Given the description of an element on the screen output the (x, y) to click on. 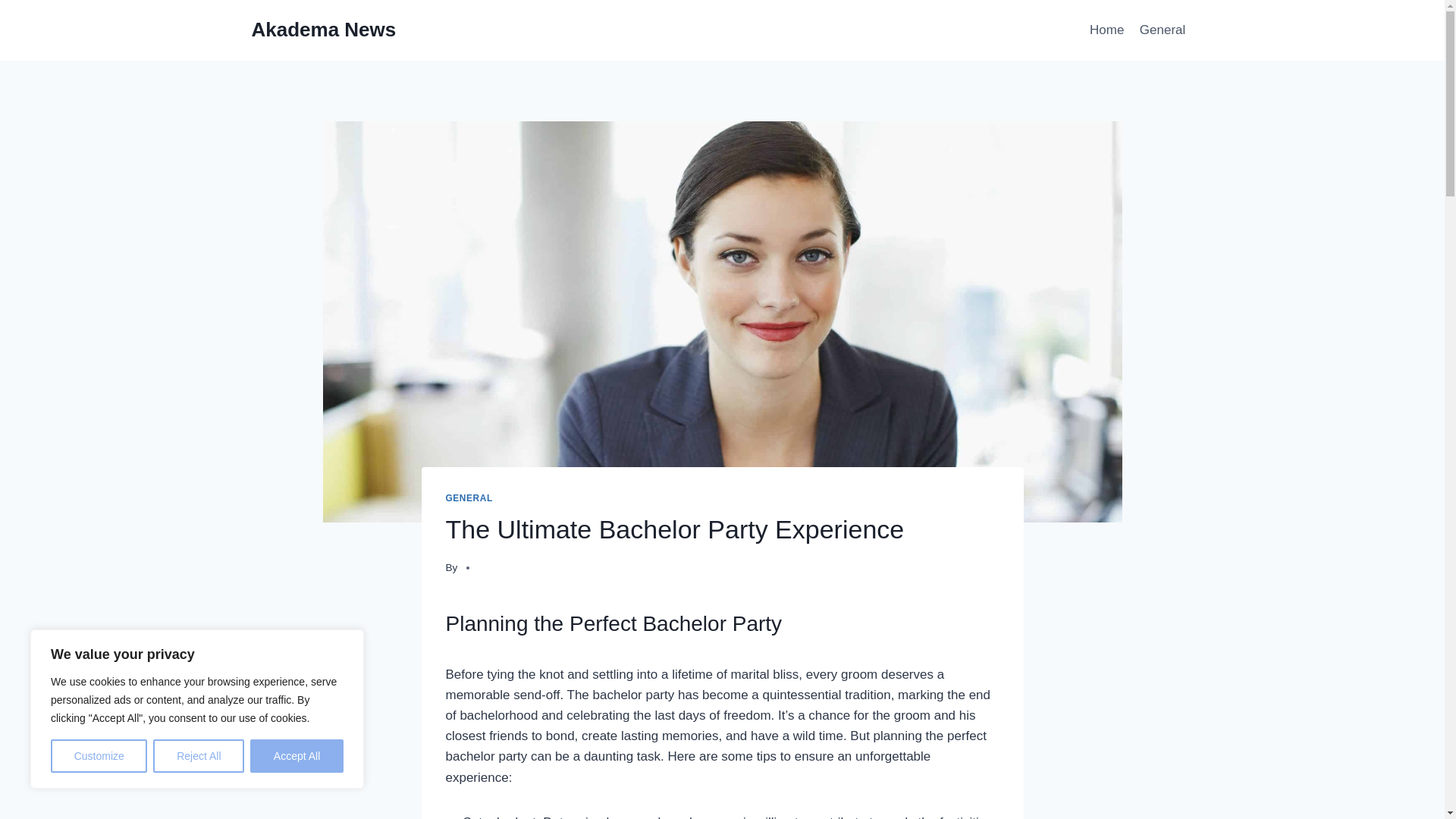
Reject All (198, 756)
Home (1106, 30)
Customize (98, 756)
Accept All (296, 756)
General (1162, 30)
Akadema News (323, 29)
GENERAL (469, 498)
